Given the description of an element on the screen output the (x, y) to click on. 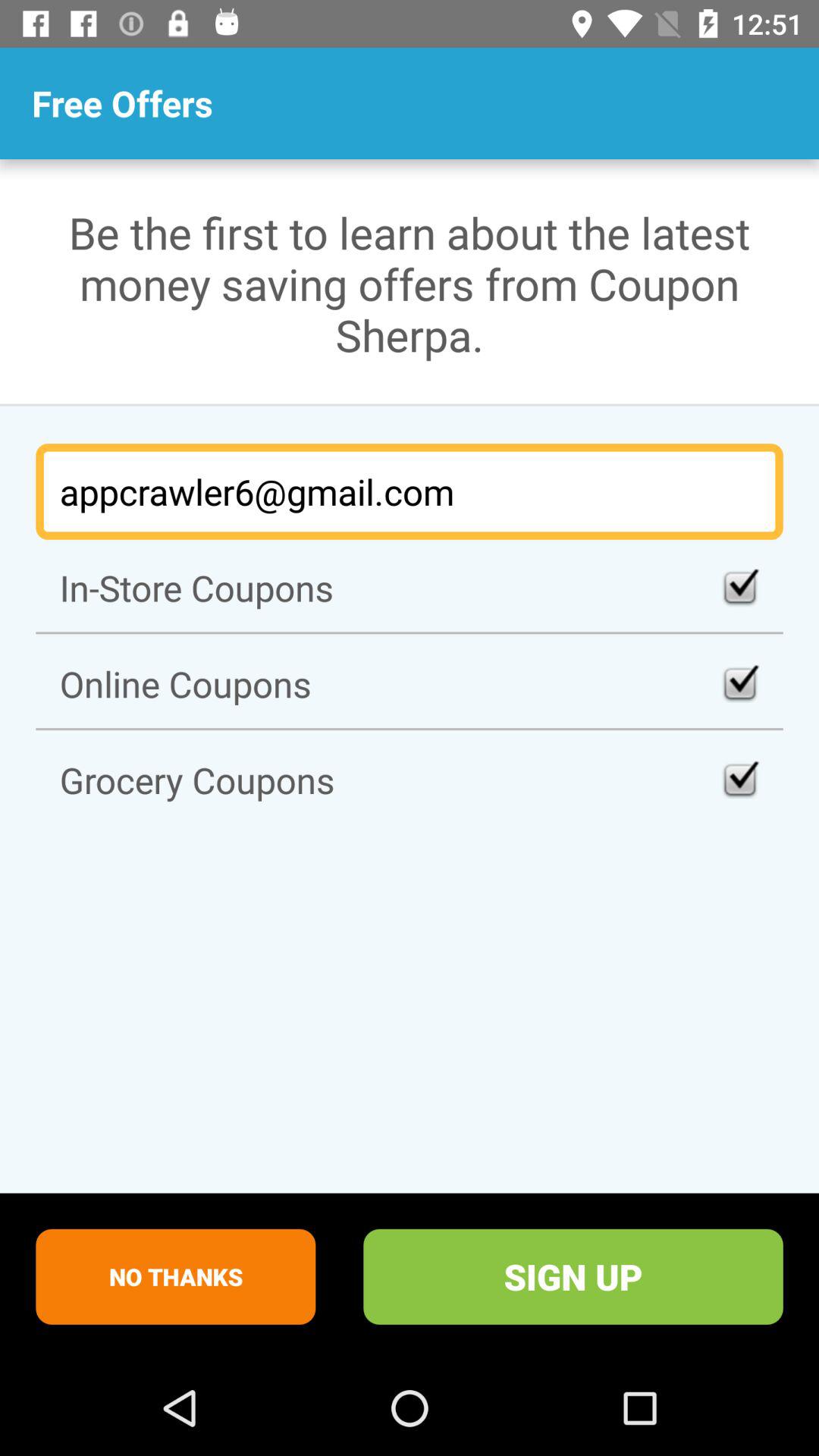
turn on the no thanks at the bottom left corner (175, 1276)
